Given the description of an element on the screen output the (x, y) to click on. 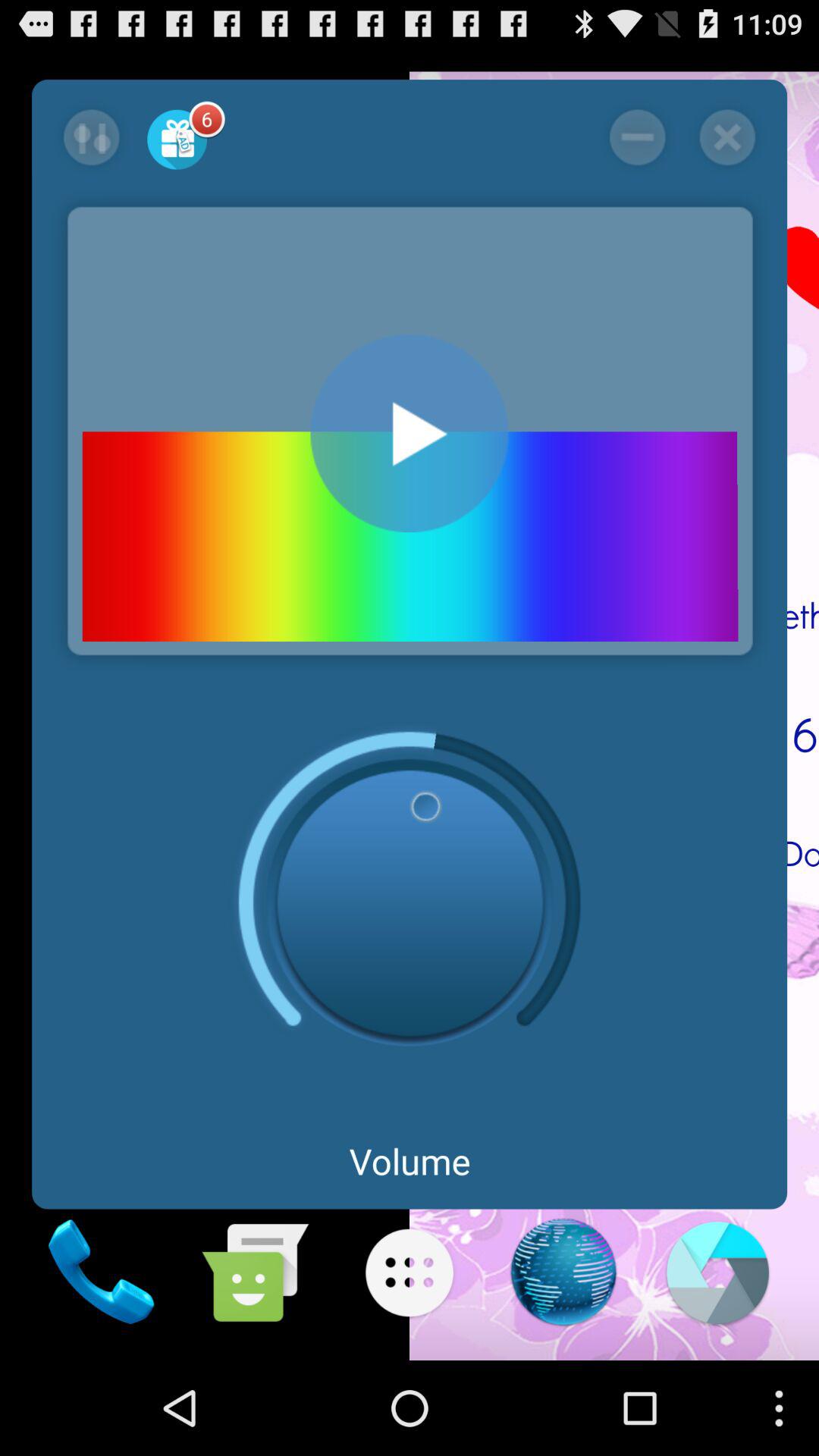
play sound (409, 433)
